Given the description of an element on the screen output the (x, y) to click on. 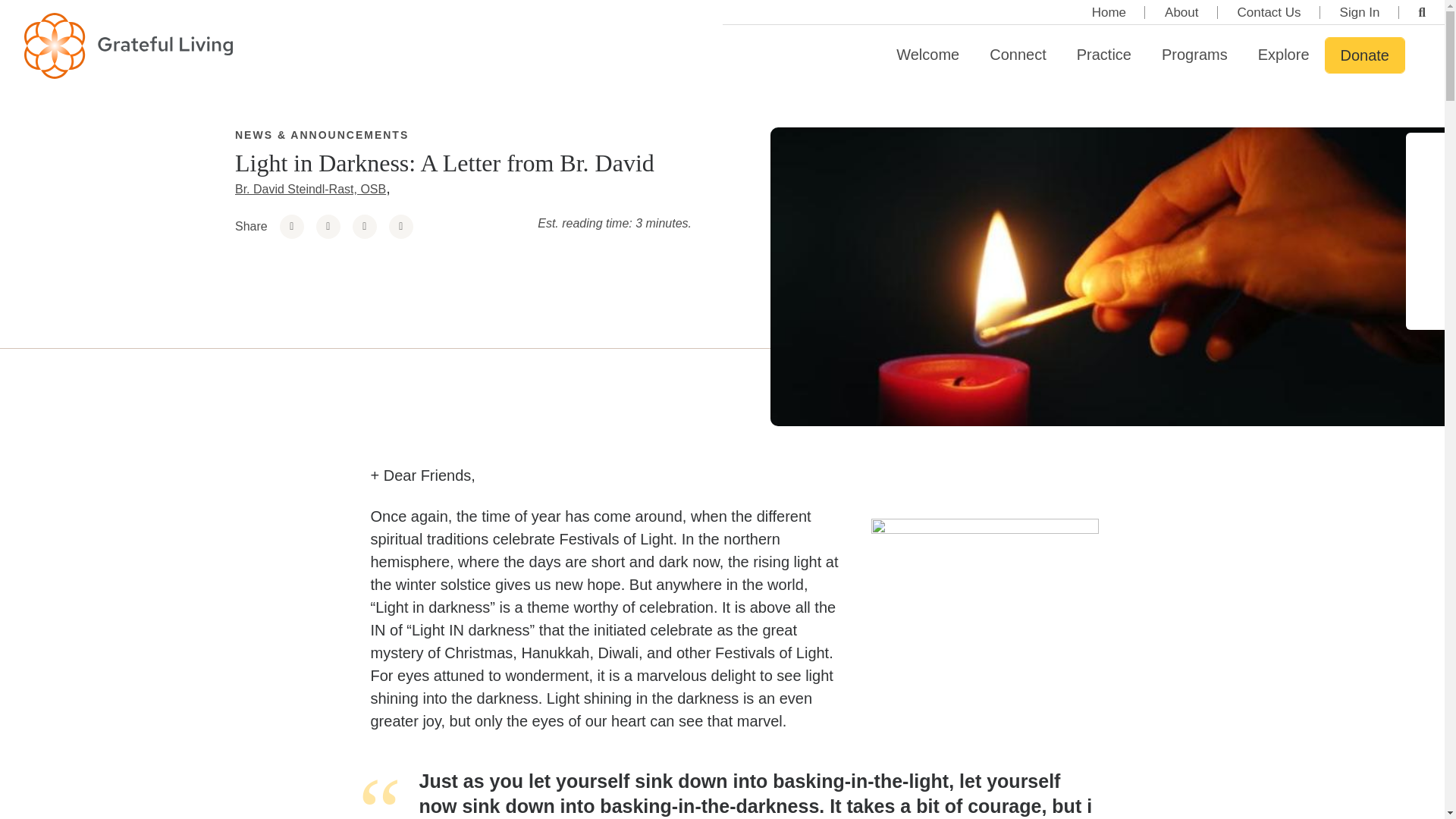
Share via Email (400, 226)
search (1422, 11)
Sign In (1359, 11)
Practice (1104, 54)
Share on X (364, 226)
Explore (1283, 54)
Practice (1104, 54)
Share on Facebook (291, 226)
Connect (1017, 54)
Home (1109, 11)
